Given the description of an element on the screen output the (x, y) to click on. 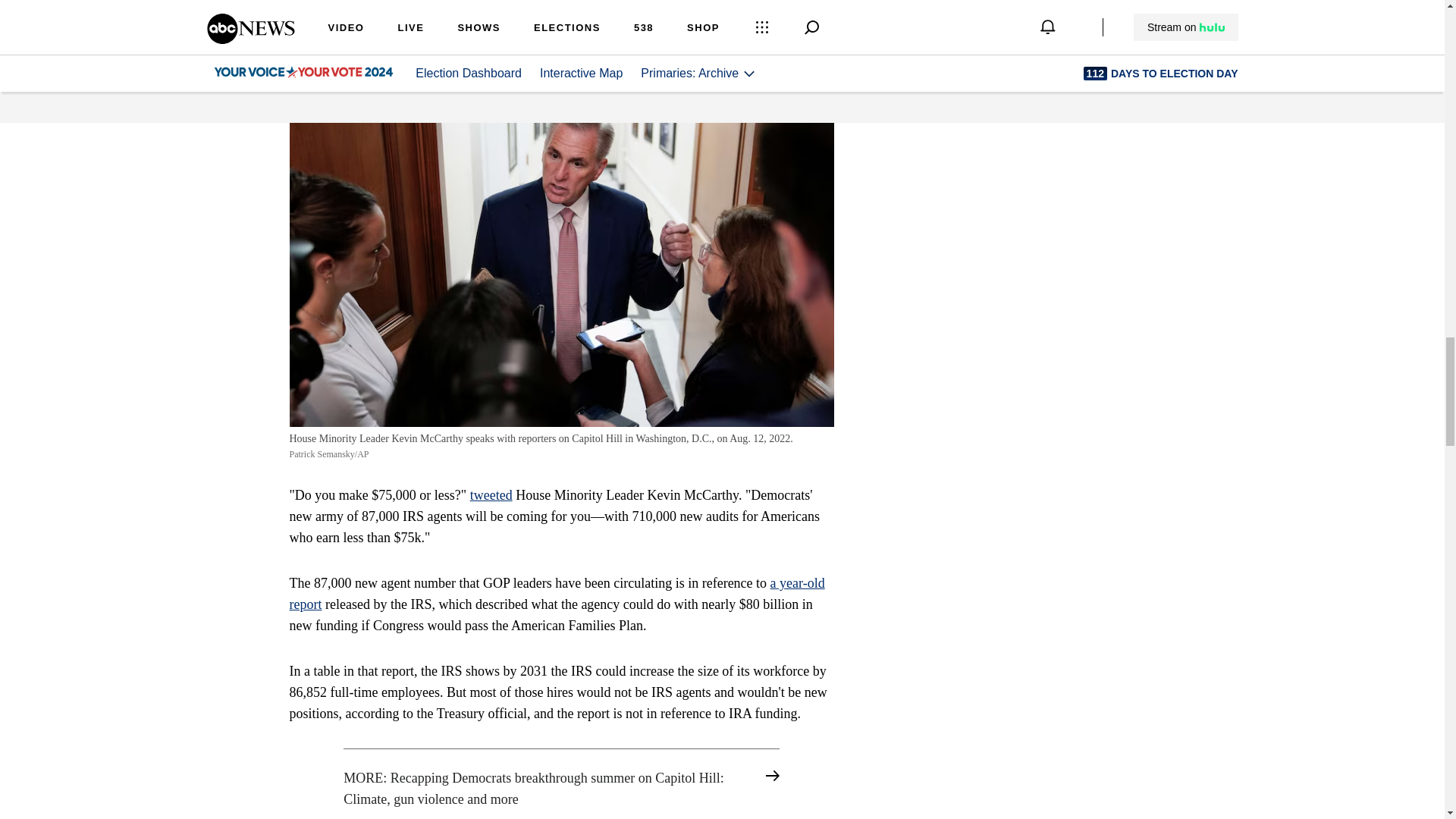
a year-old report (557, 593)
tweeted (491, 494)
